Given the description of an element on the screen output the (x, y) to click on. 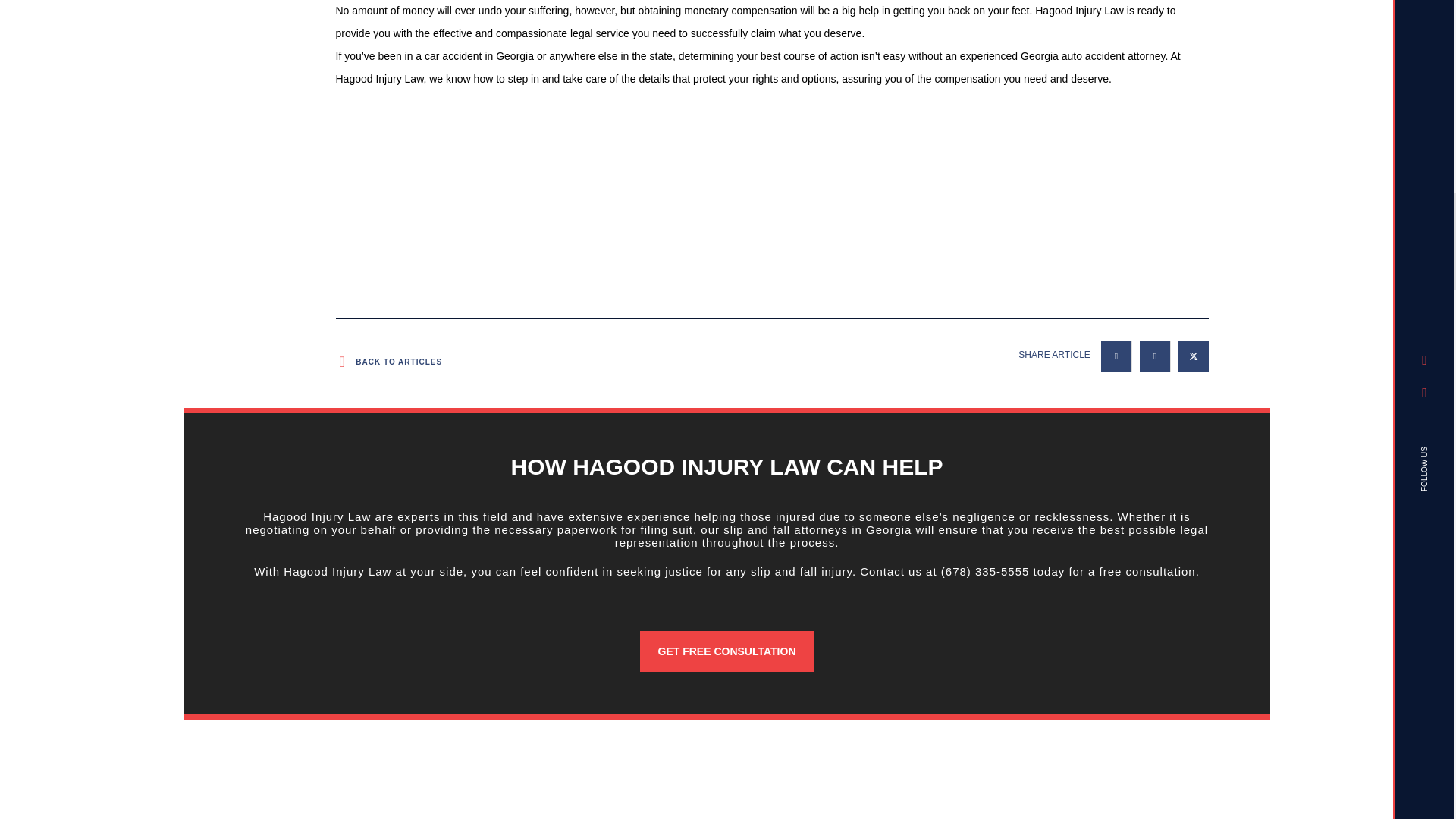
Tweet this (1192, 356)
Share this (1155, 356)
Email this (1116, 356)
